Given the description of an element on the screen output the (x, y) to click on. 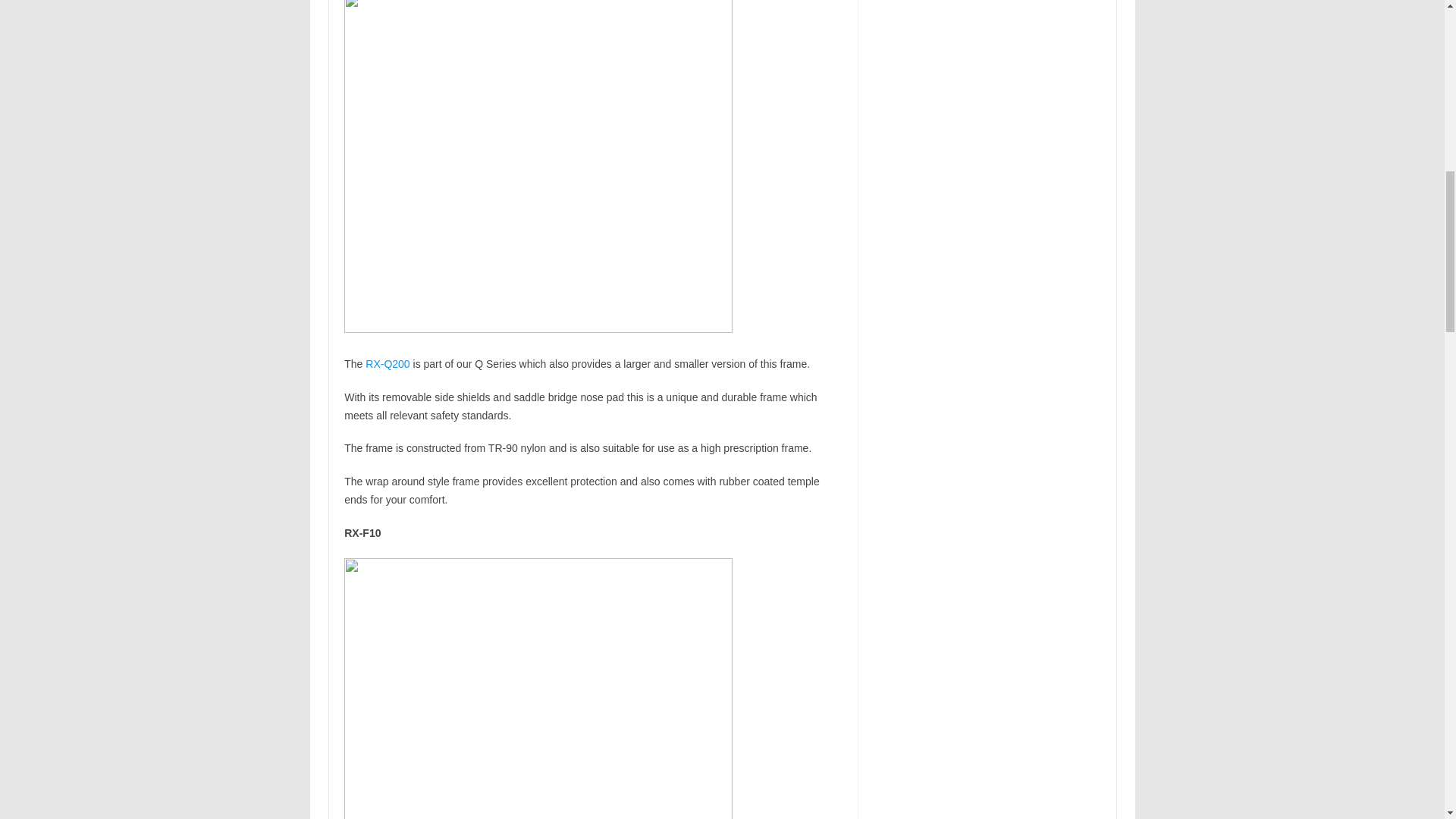
RX-Q200 (387, 363)
